Given the description of an element on the screen output the (x, y) to click on. 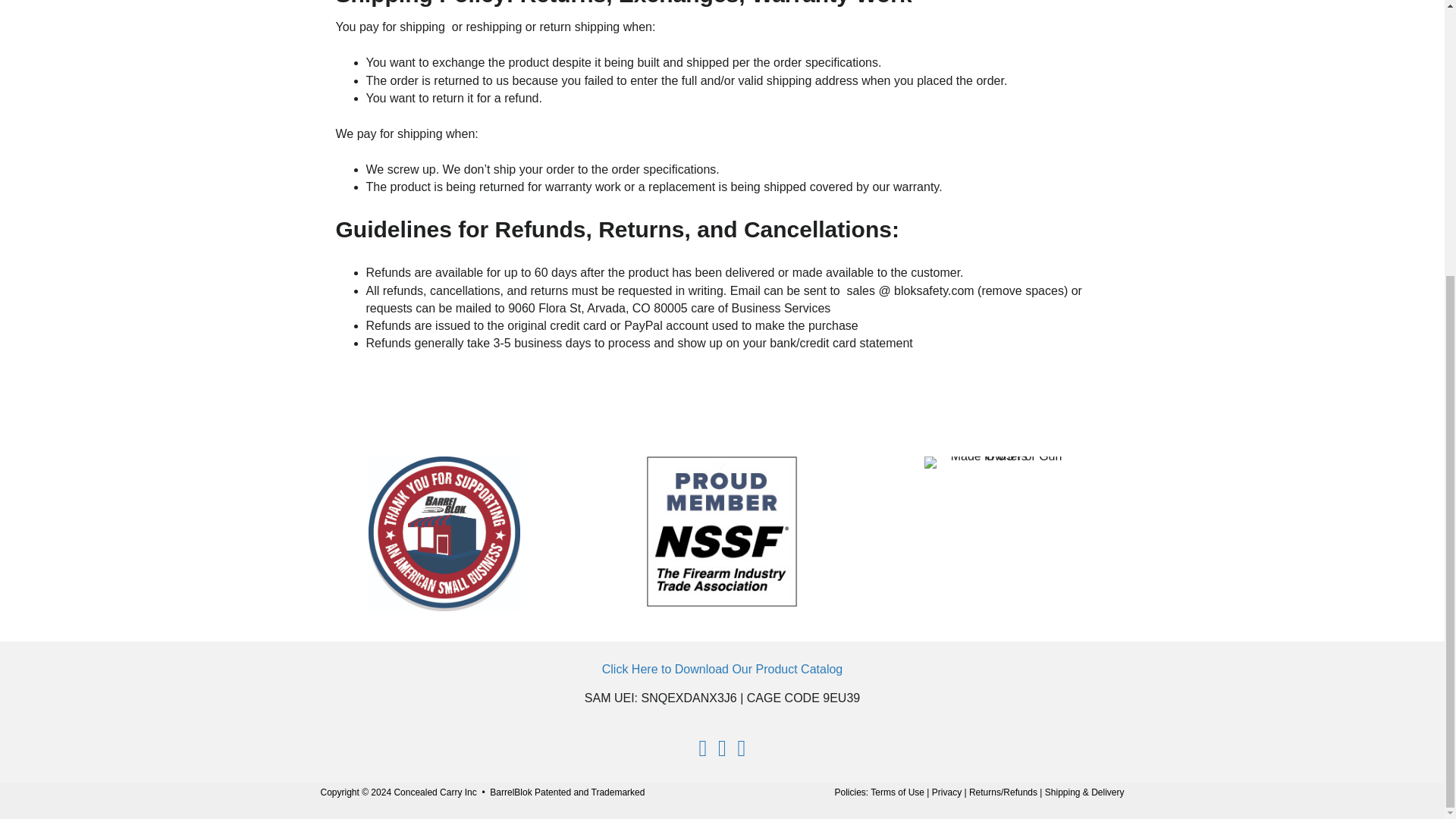
BB American Small Business (443, 533)
Made in US For Gun Owners (999, 462)
Privacy (945, 792)
NSSF-Member (721, 531)
Click Here to Download Our Product Catalog (722, 668)
Terms of Use (897, 792)
